Given the description of an element on the screen output the (x, y) to click on. 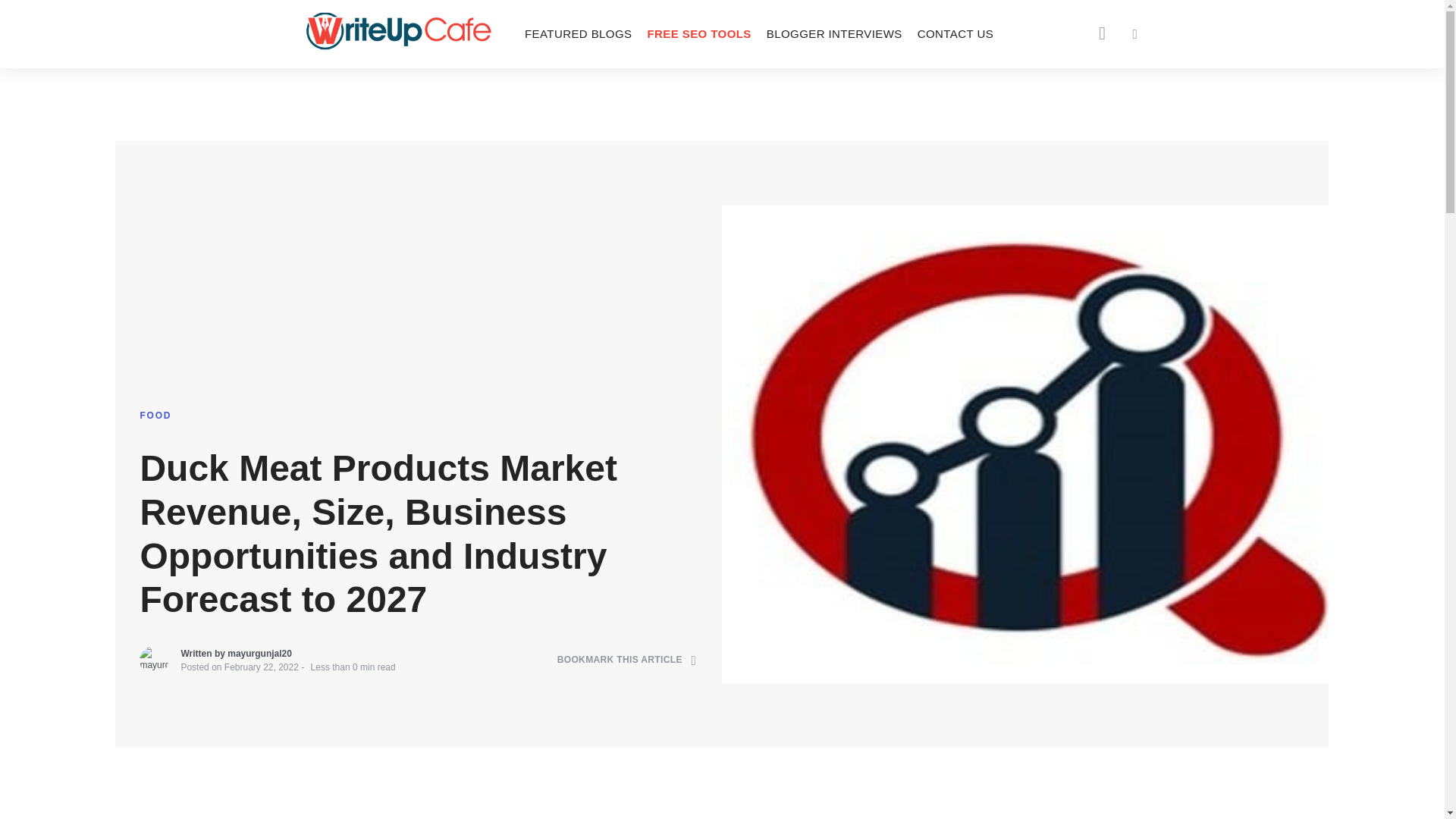
CONTACT US (955, 33)
February 22, 2022 (261, 666)
BLOGGER INTERVIEWS (834, 33)
FREE SEO TOOLS (698, 33)
BLOGGER INTERVIEWS (834, 33)
FOOD (155, 415)
mayurgunjal20 (259, 653)
FREE SEO TOOLS (698, 33)
FEATURED BLOGS (577, 33)
CONTACT US (955, 33)
